Given the description of an element on the screen output the (x, y) to click on. 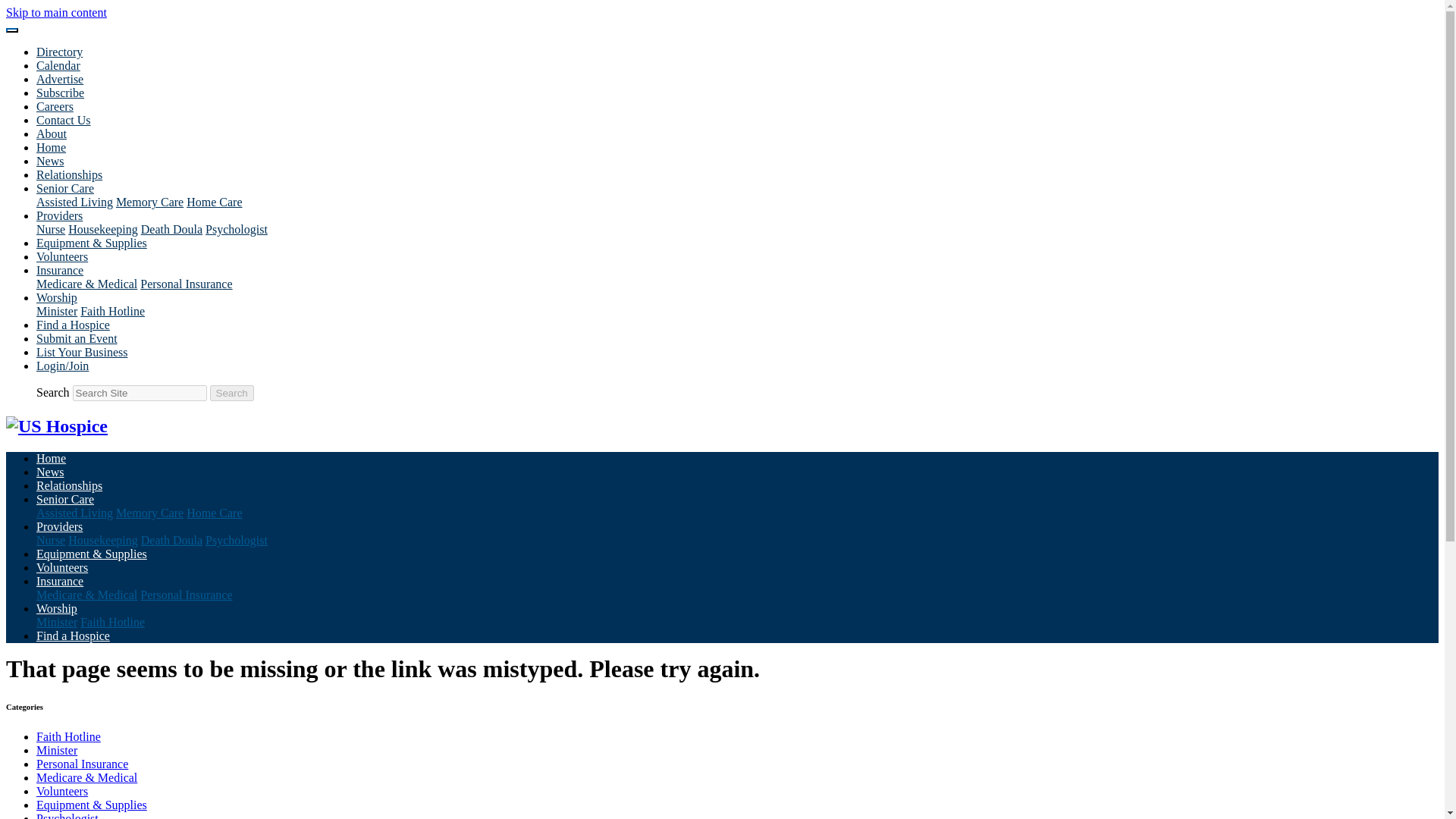
Worship (56, 297)
Home (50, 458)
Contact Us (63, 119)
Personal Insurance (185, 283)
Home (50, 146)
Relationships (68, 174)
News (50, 472)
Relationships (68, 485)
Senior Care (65, 499)
Submit an Event (76, 338)
Volunteers (61, 256)
Faith Hotline (112, 310)
Skip to main content (55, 11)
About (51, 133)
Psychologist (236, 228)
